Given the description of an element on the screen output the (x, y) to click on. 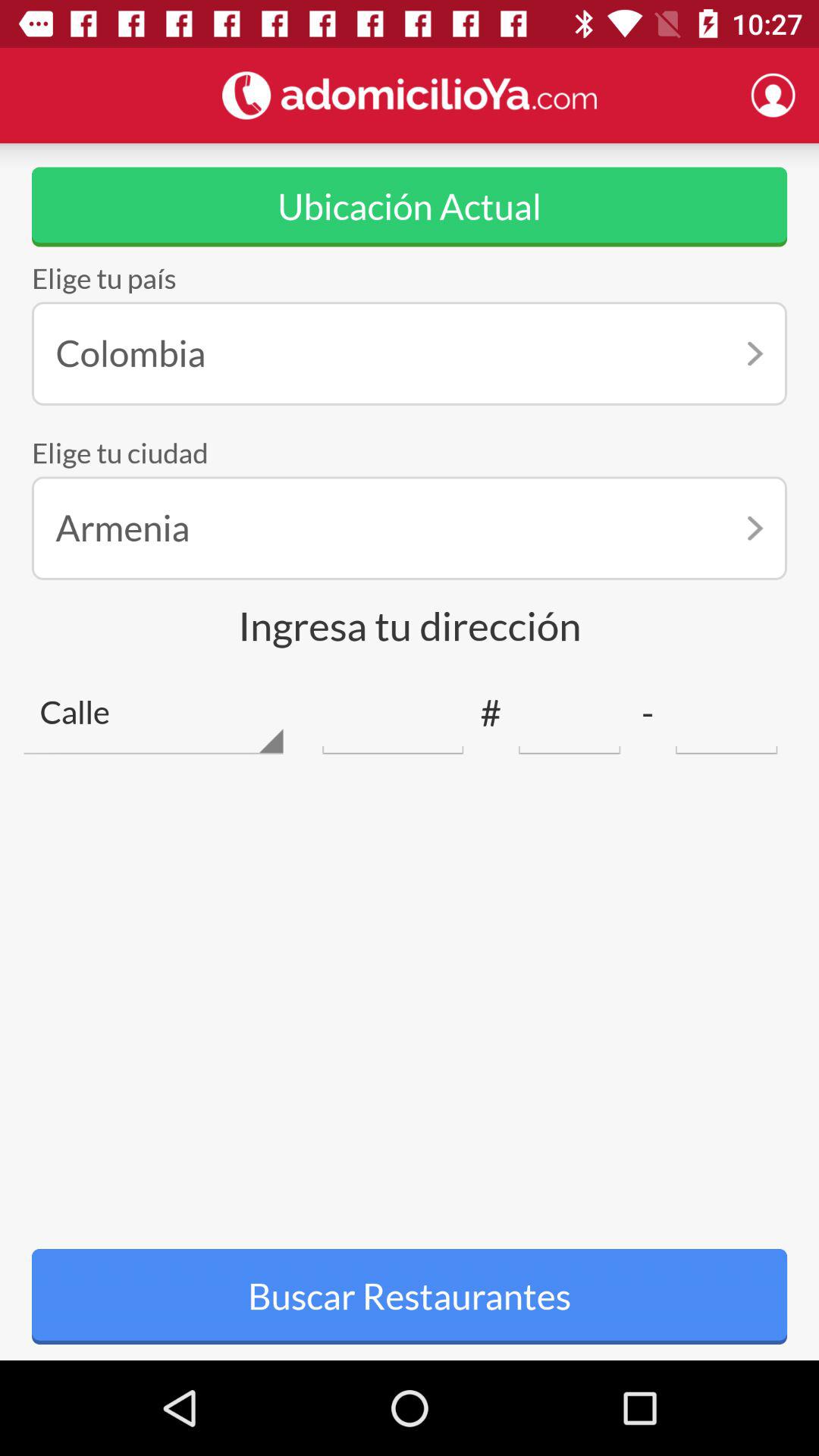
add telephone number (569, 713)
